Given the description of an element on the screen output the (x, y) to click on. 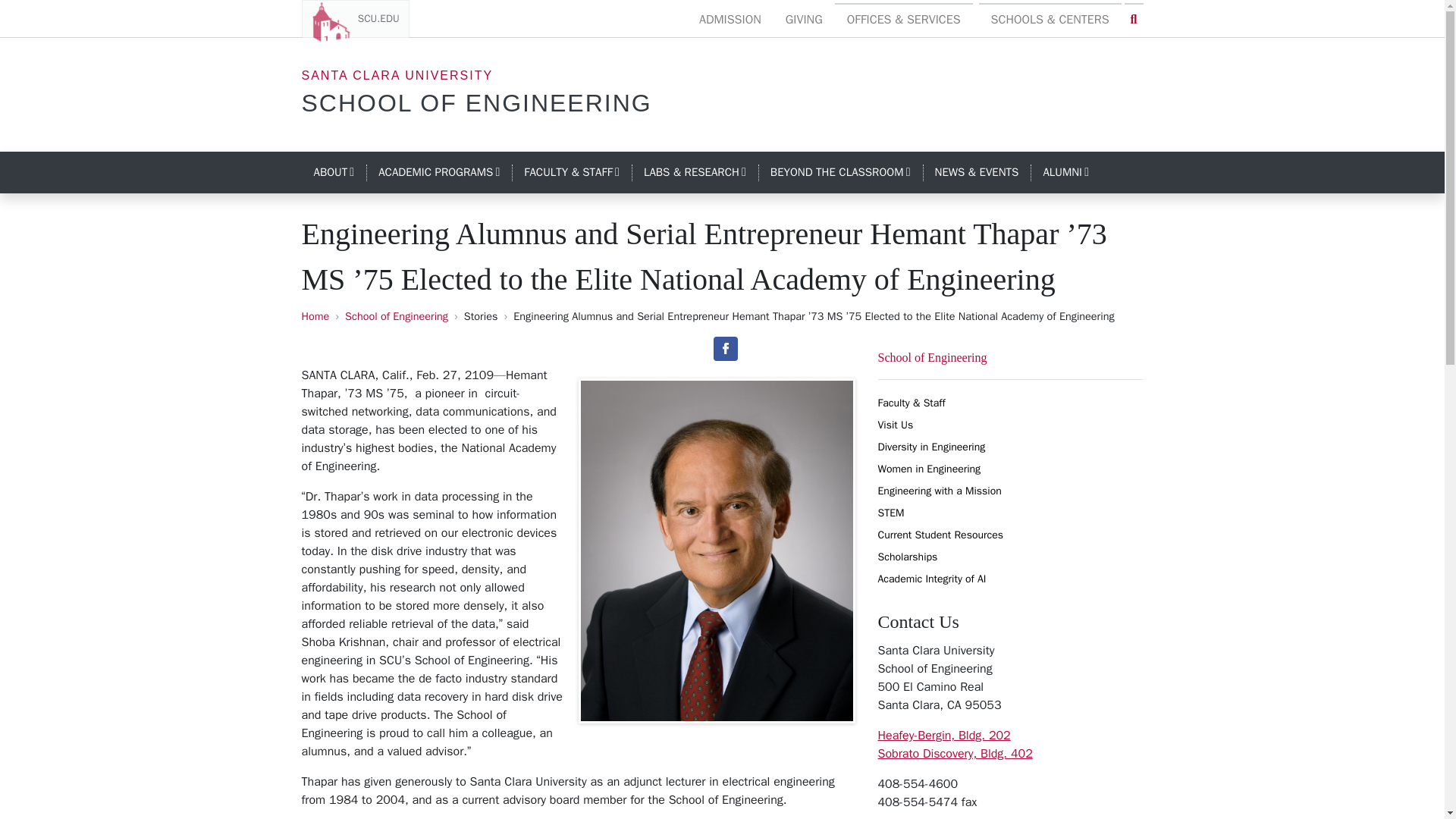
SCHOOL OF ENGINEERING (476, 103)
Sobrato Discovery, Bldg. 402 (954, 753)
ADMISSION (730, 19)
GIVING (803, 19)
SANTA CLARA UNIVERSITY (397, 74)
SCU.EDU (355, 18)
